Given the description of an element on the screen output the (x, y) to click on. 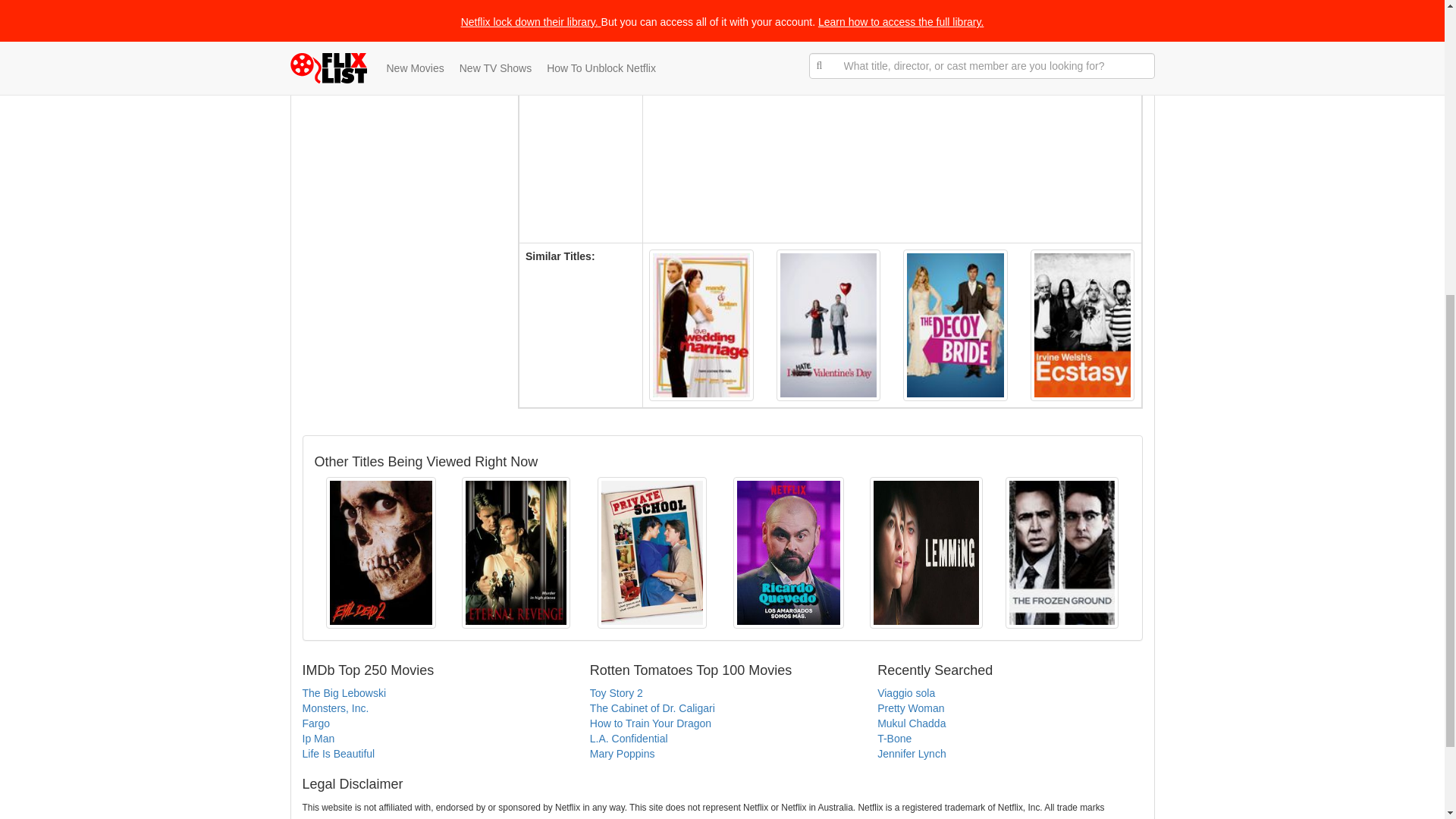
Life Is Beautiful (337, 753)
Lemming (925, 552)
Frozen Ground (1062, 552)
Eternal Revenge (515, 552)
Private School (651, 552)
Monsters, Inc. (334, 707)
I Hate Valentine's Day (828, 325)
Fargo (315, 723)
Ip Man (317, 738)
Evil Dead 2: Dead by Dawn (380, 552)
Love, Wedding, Marriage (701, 325)
Ecstasy (1082, 325)
The Decoy Bride (954, 325)
The Big Lebowski (343, 693)
